Given the description of an element on the screen output the (x, y) to click on. 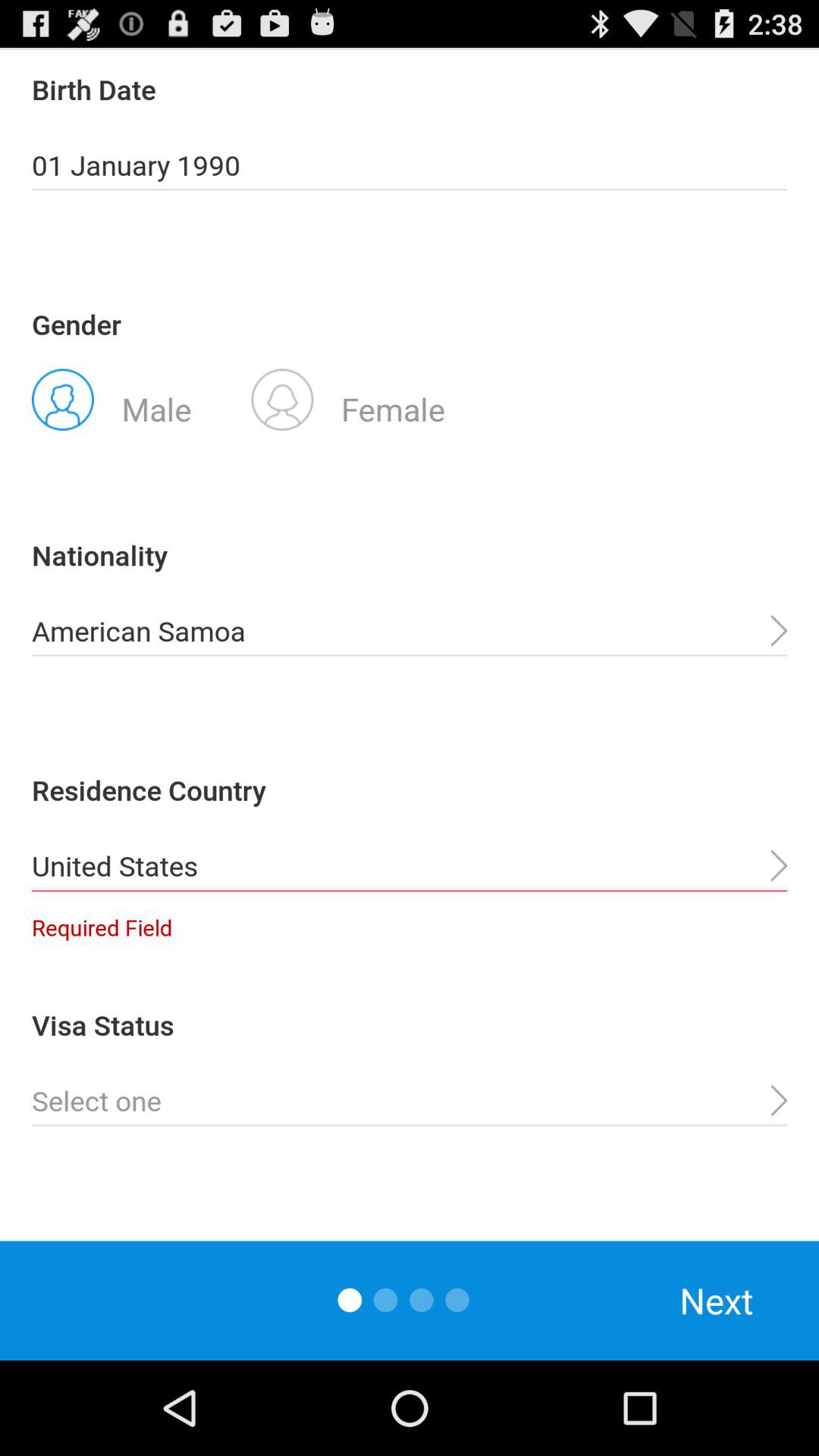
tap icon to the right of the male (348, 398)
